Given the description of an element on the screen output the (x, y) to click on. 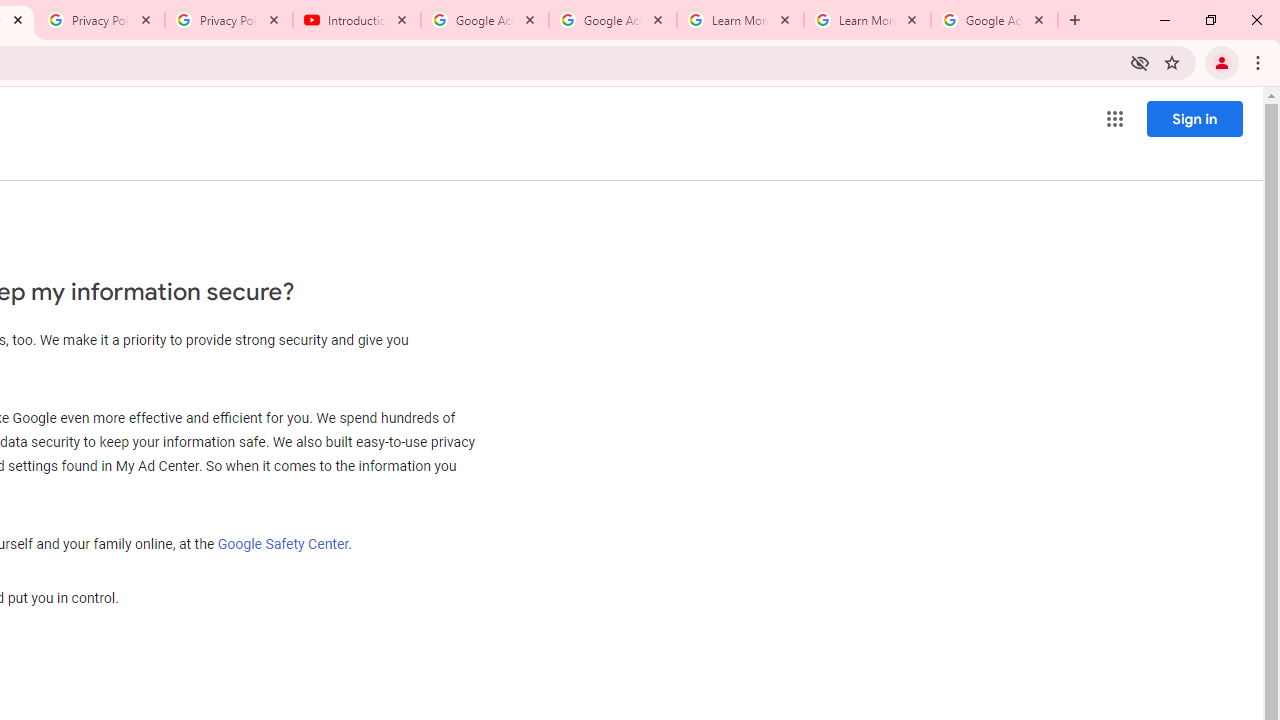
Introduction | Google Privacy Policy - YouTube (357, 20)
Google Account Help (485, 20)
Google Safety Center (283, 543)
Google Account (994, 20)
Google Account Help (613, 20)
